Given the description of an element on the screen output the (x, y) to click on. 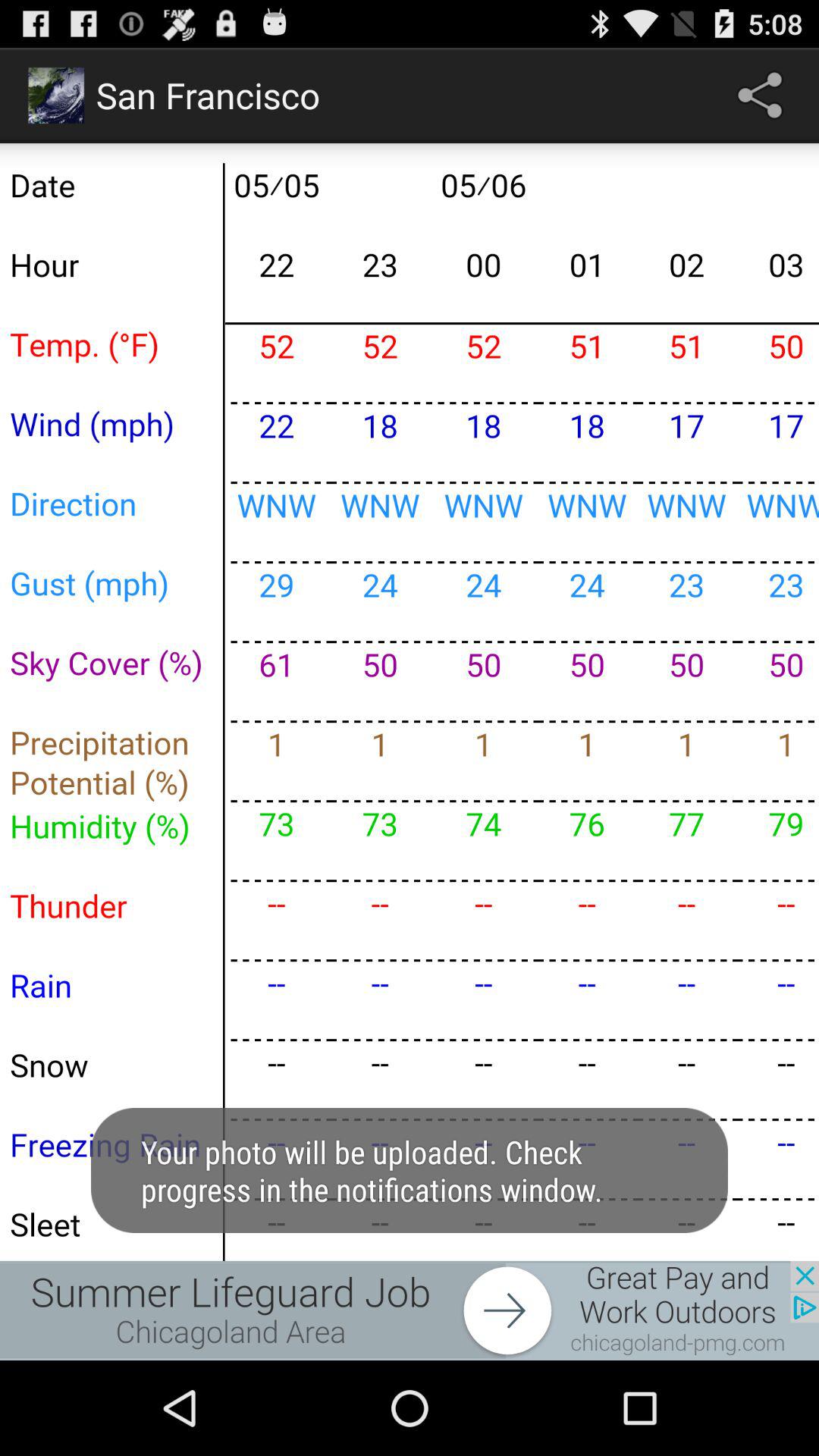
advertisement (409, 1310)
